Given the description of an element on the screen output the (x, y) to click on. 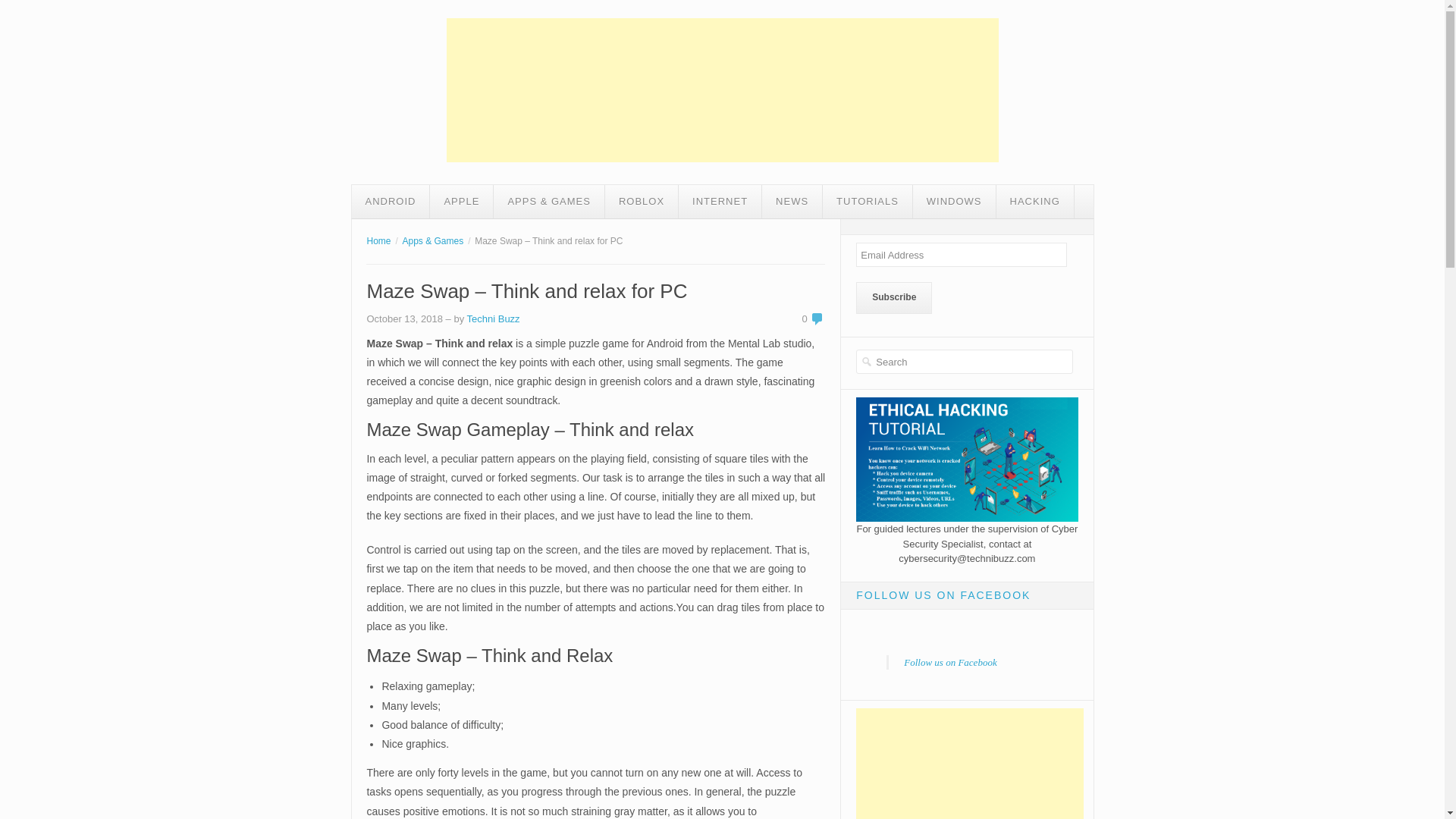
HACKING (1034, 201)
TUTORIALS (867, 201)
ROBLOX (641, 201)
APPLE (461, 201)
NEWS (791, 201)
Techni Buzz (493, 318)
WINDOWS (953, 201)
October 13, 2018 (404, 318)
Home (378, 240)
INTERNET (719, 201)
ANDROID (391, 201)
